Given the description of an element on the screen output the (x, y) to click on. 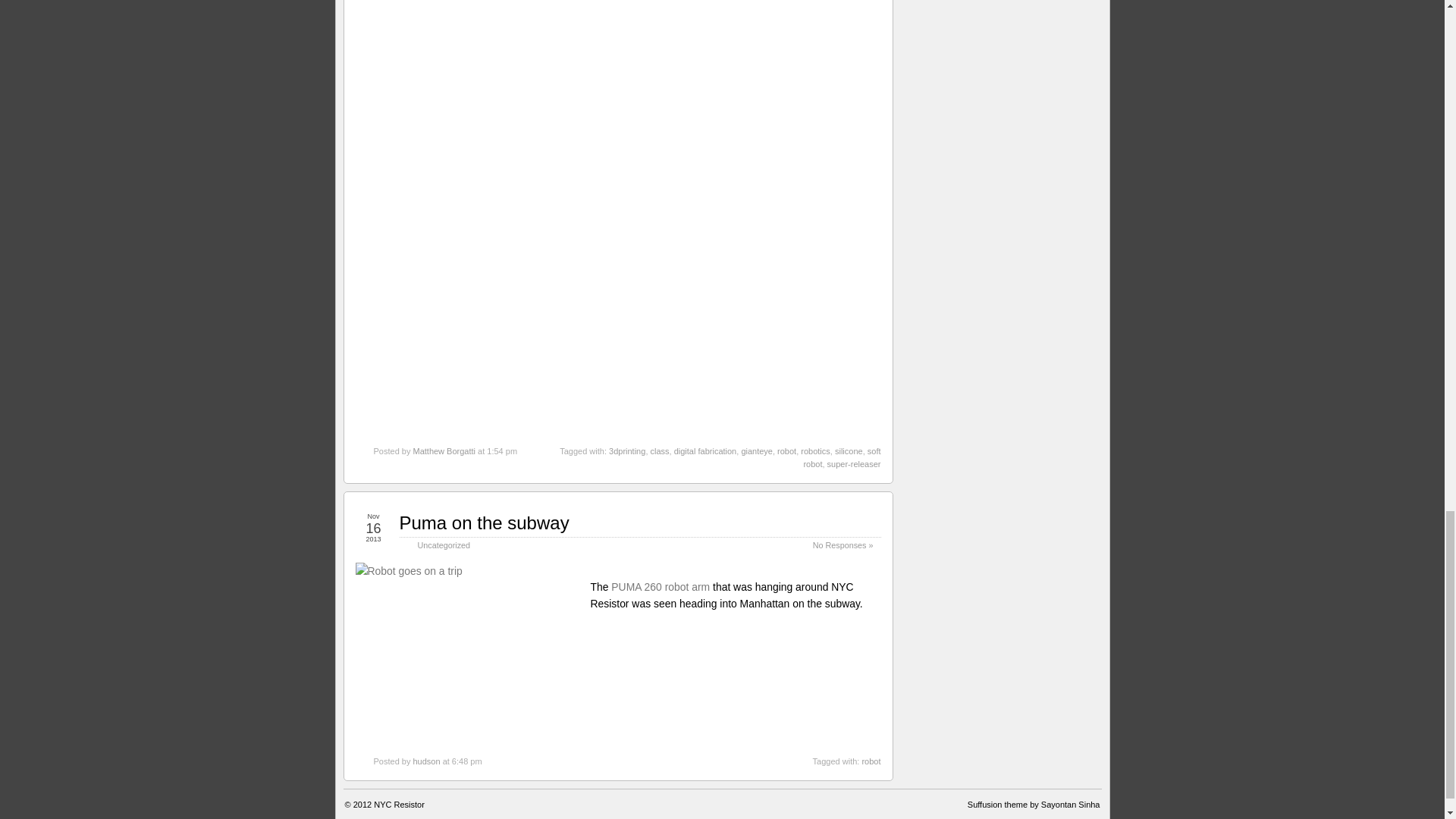
Puma on the subway (483, 522)
